Given the description of an element on the screen output the (x, y) to click on. 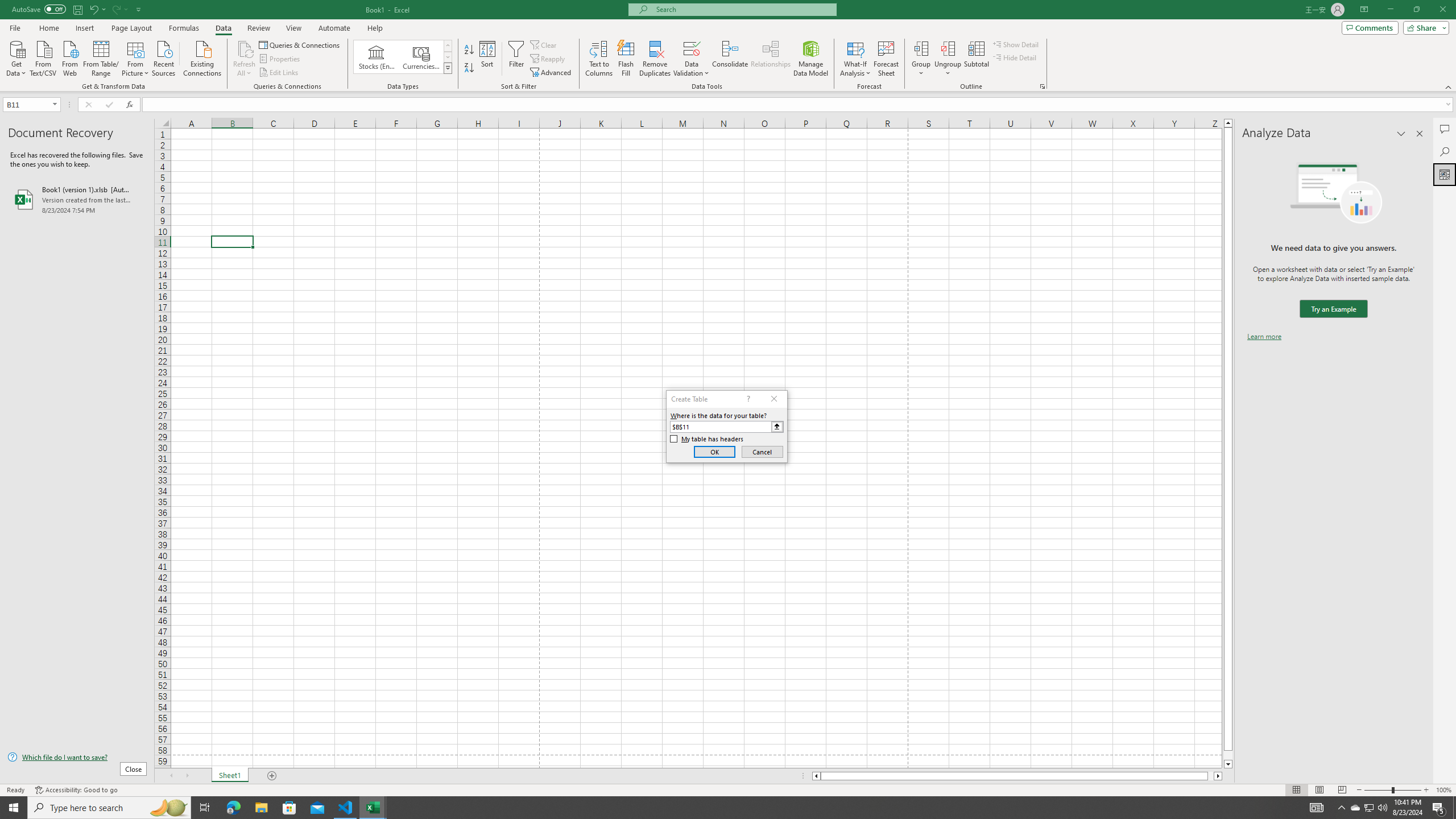
Sort A to Z (469, 49)
Currencies (English) (420, 56)
Existing Connections (202, 57)
Learn more (1264, 336)
Consolidate... (729, 58)
Group and Outline Settings (1042, 85)
Forecast Sheet (885, 58)
